Given the description of an element on the screen output the (x, y) to click on. 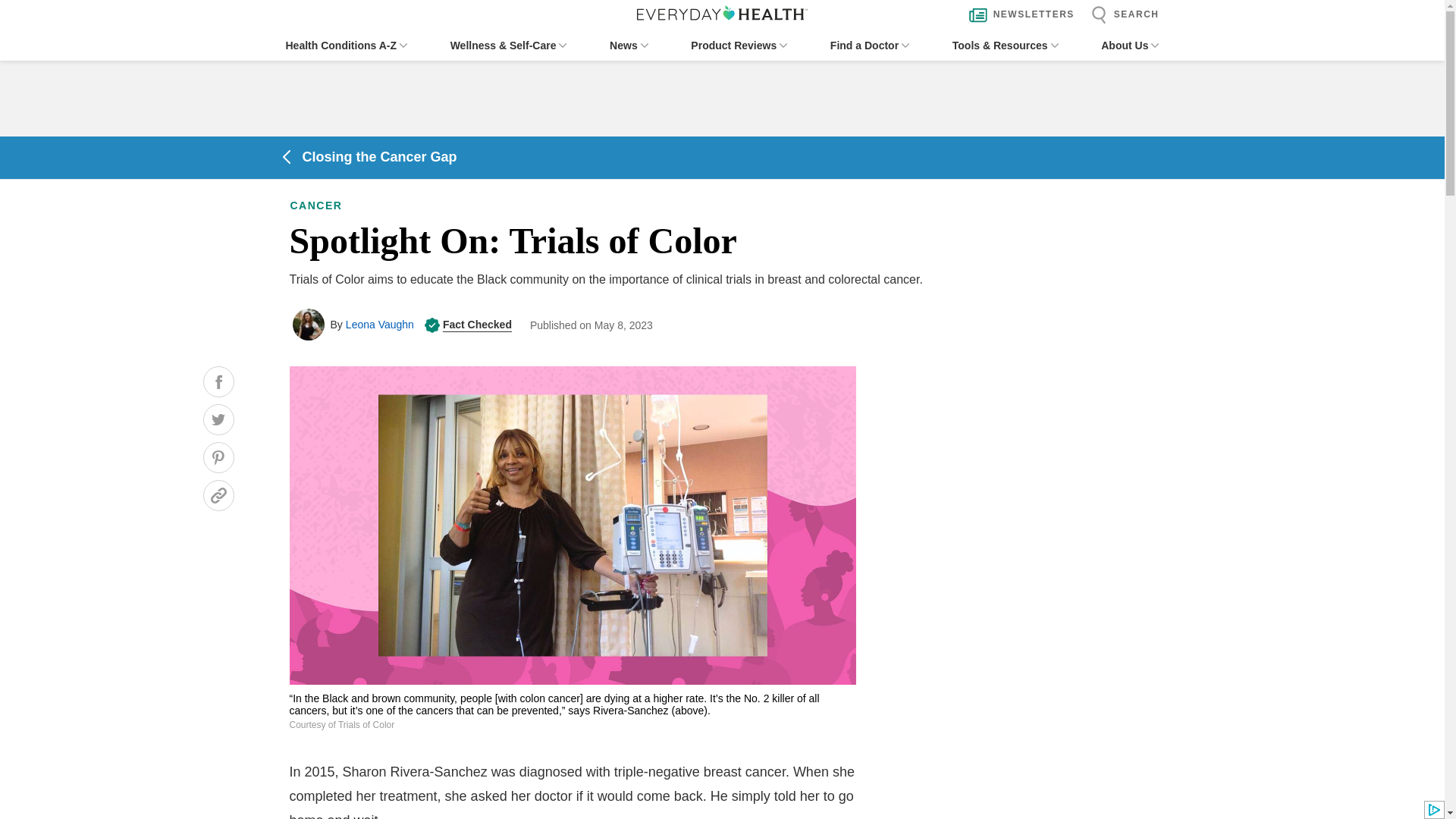
About Us (1129, 45)
Find a Doctor (868, 45)
News (628, 45)
NEWSLETTERS (1018, 15)
Product Reviews (738, 45)
Health Conditions A-Z (345, 45)
SEARCH (1120, 15)
